Given the description of an element on the screen output the (x, y) to click on. 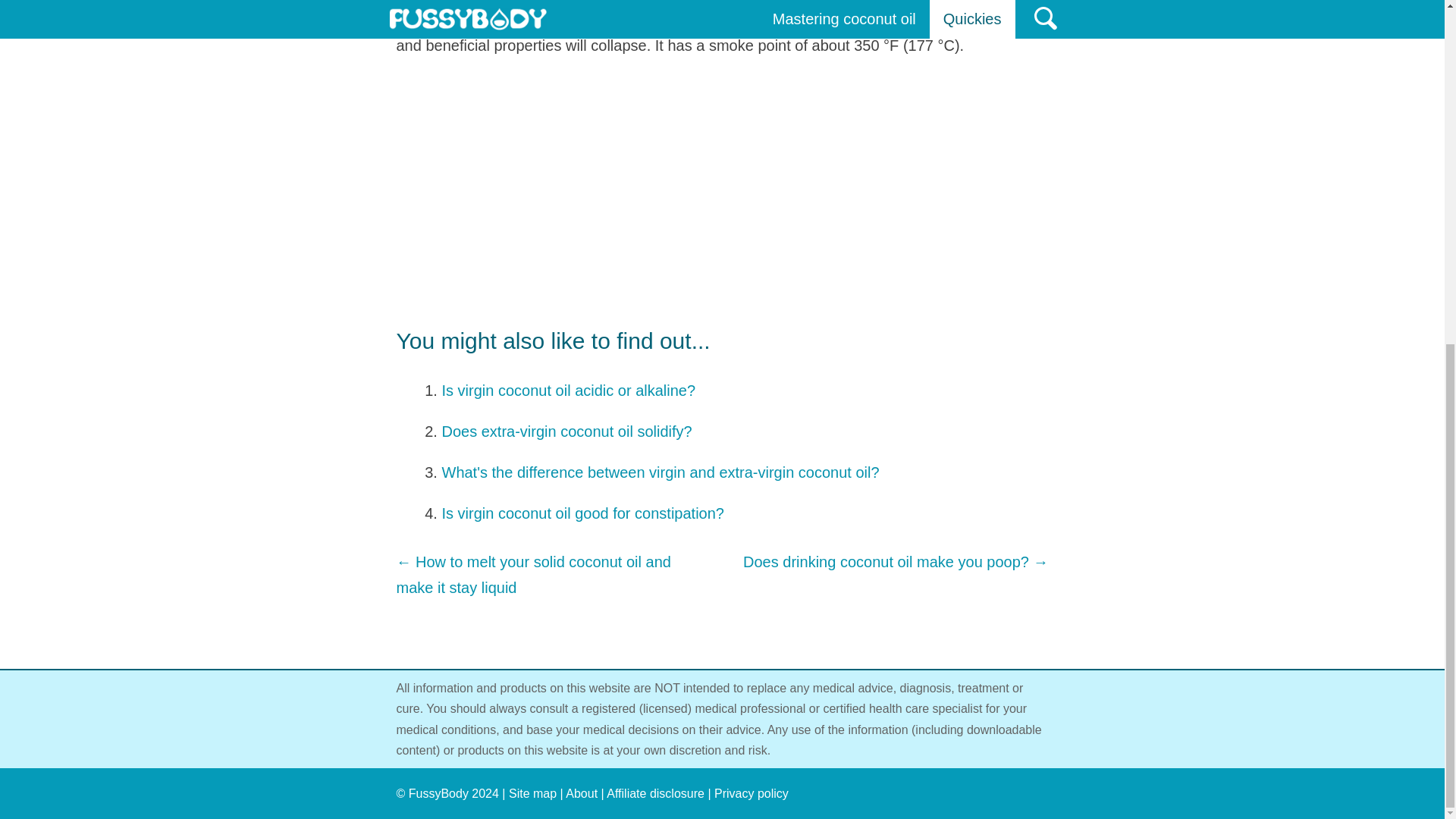
Affiliate disclosure (655, 793)
Site map (532, 793)
Is virgin coconut oil good for constipation? (582, 513)
Is virgin coconut oil acidic or alkaline? (568, 390)
About (581, 793)
Privacy policy (751, 793)
Does extra-virgin coconut oil solidify? (566, 431)
